Given the description of an element on the screen output the (x, y) to click on. 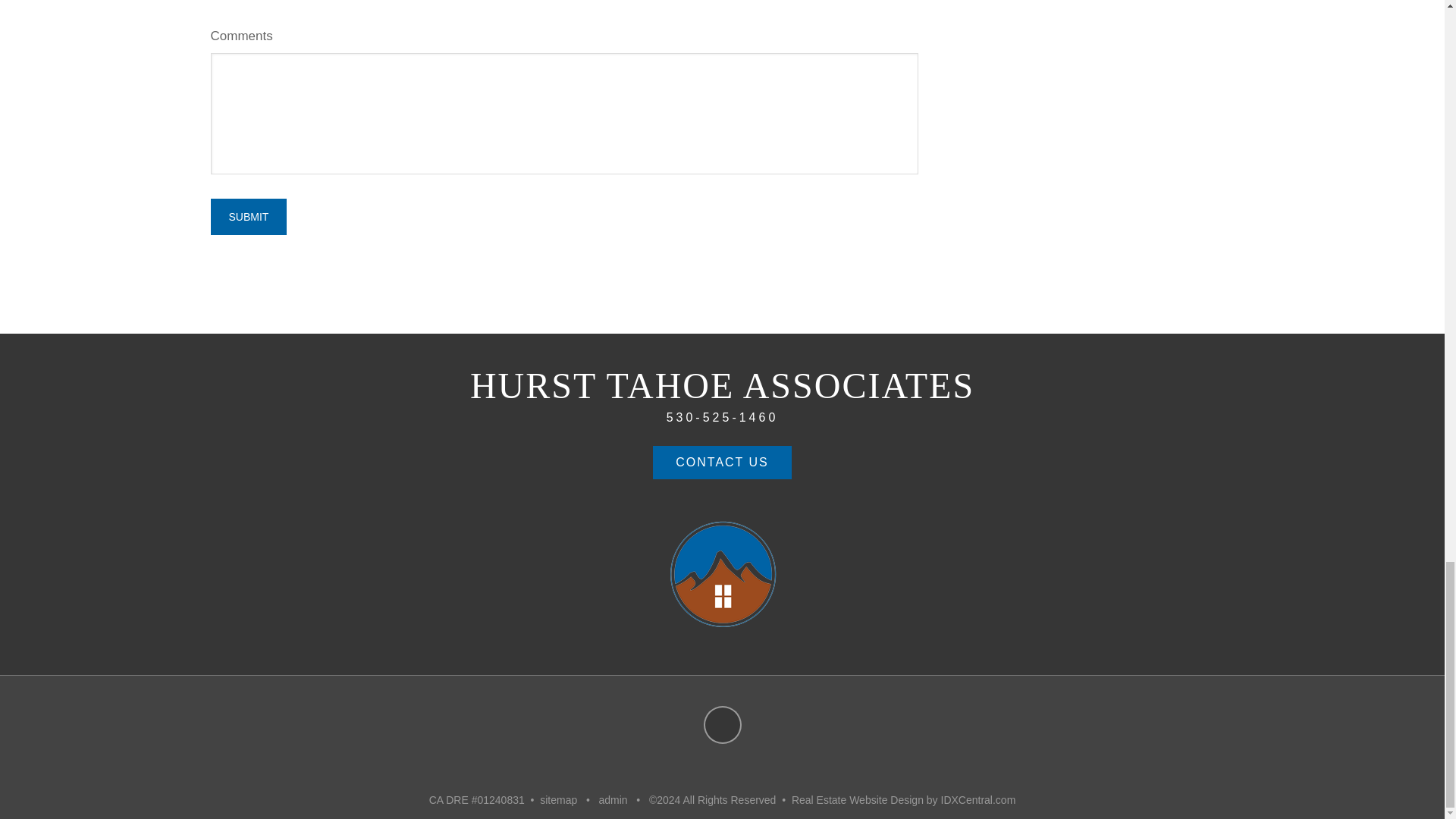
Email (721, 724)
Submit (248, 217)
Submit (248, 217)
